Given the description of an element on the screen output the (x, y) to click on. 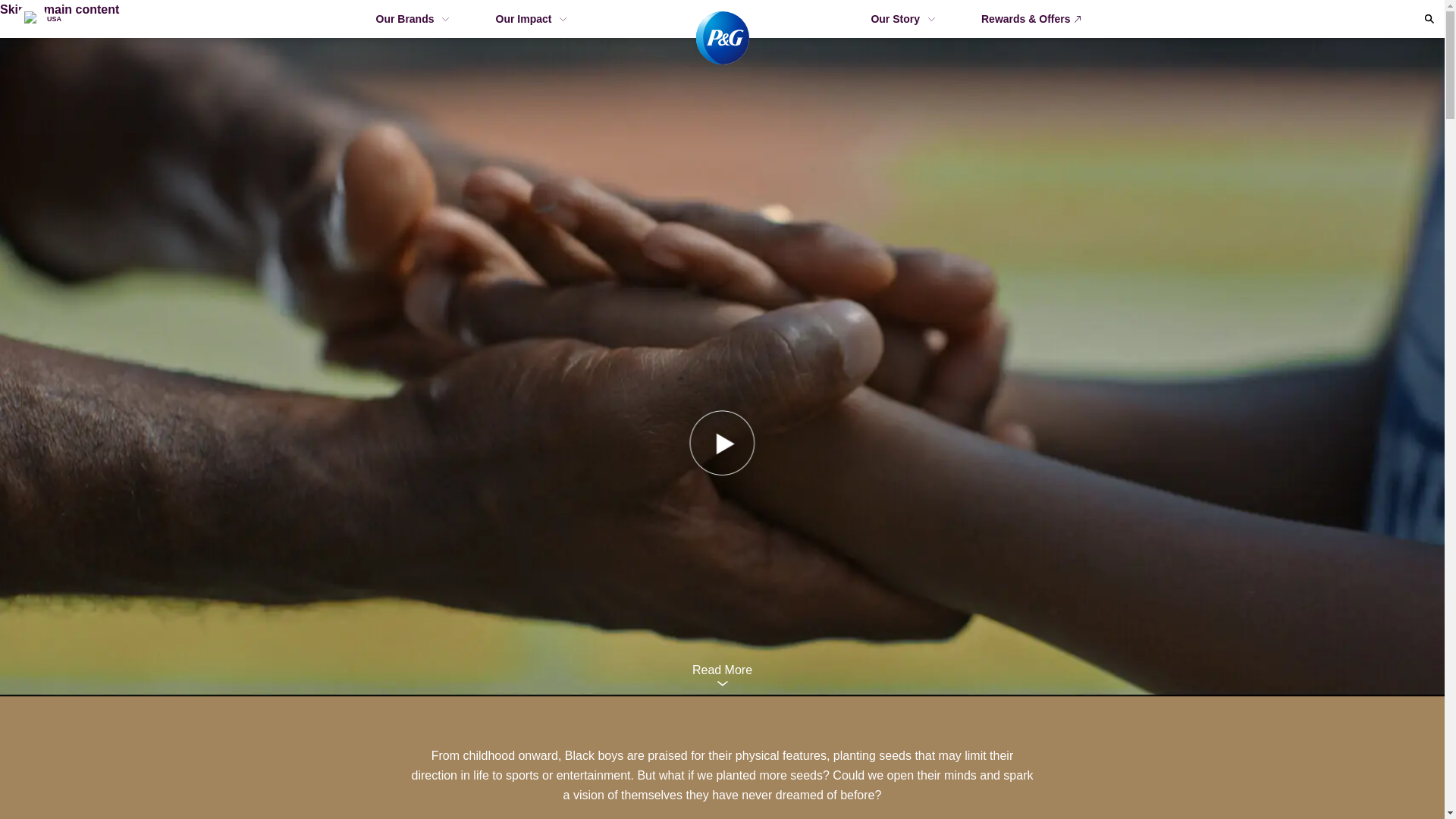
USA (38, 18)
